Given the description of an element on the screen output the (x, y) to click on. 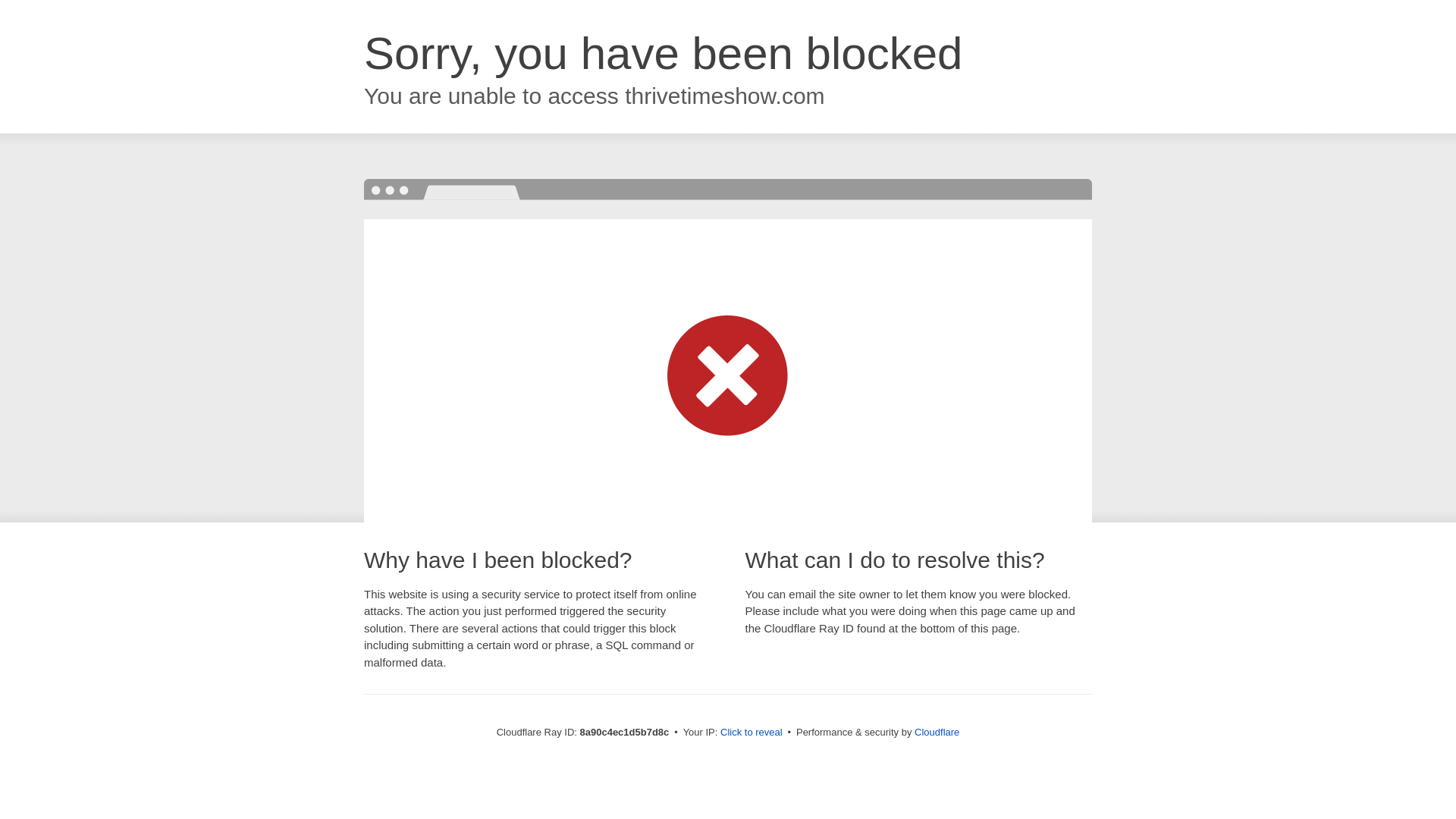
Cloudflare (936, 731)
Click to reveal (751, 732)
